Given the description of an element on the screen output the (x, y) to click on. 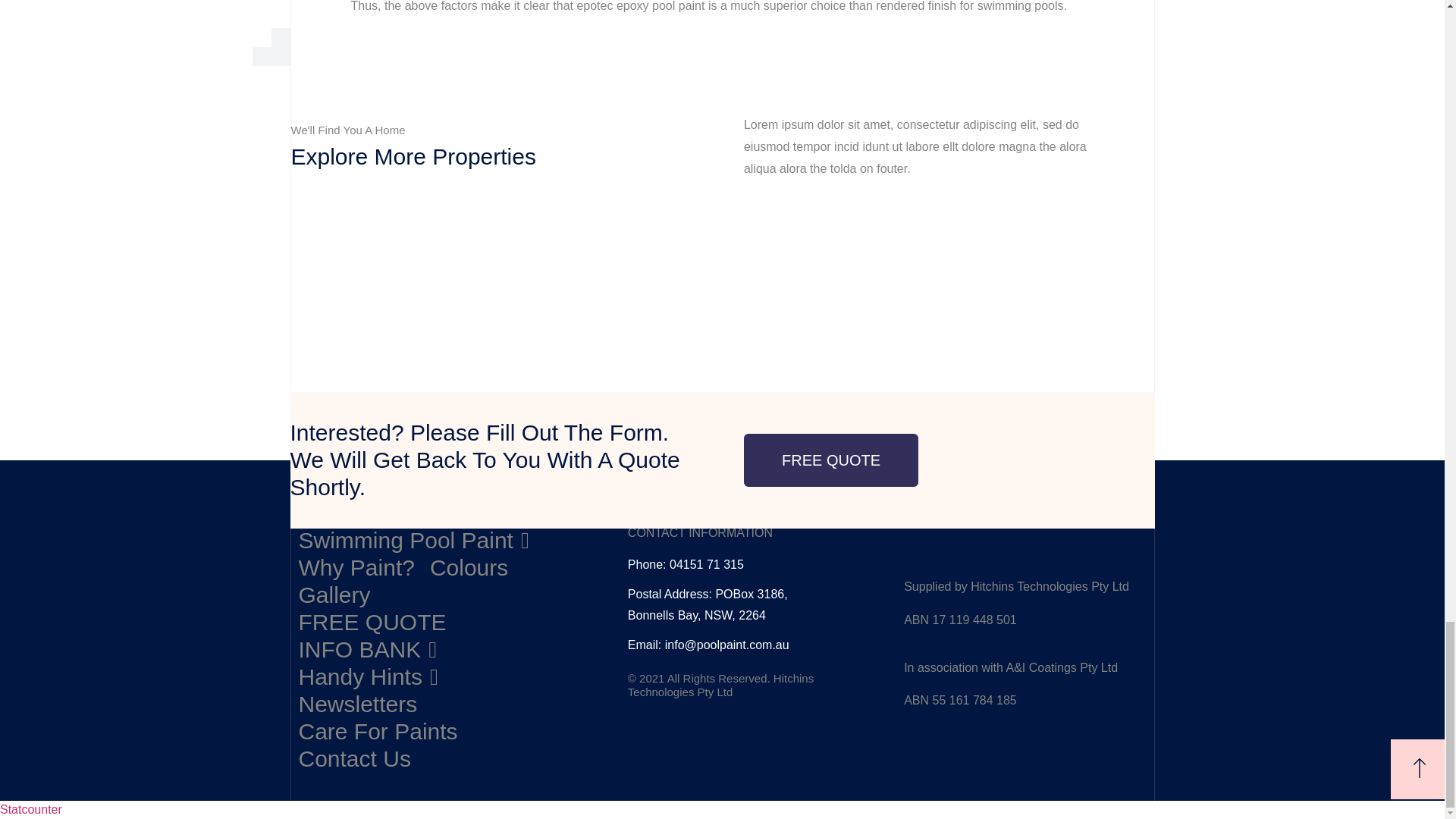
Arrow (1419, 768)
